Given the description of an element on the screen output the (x, y) to click on. 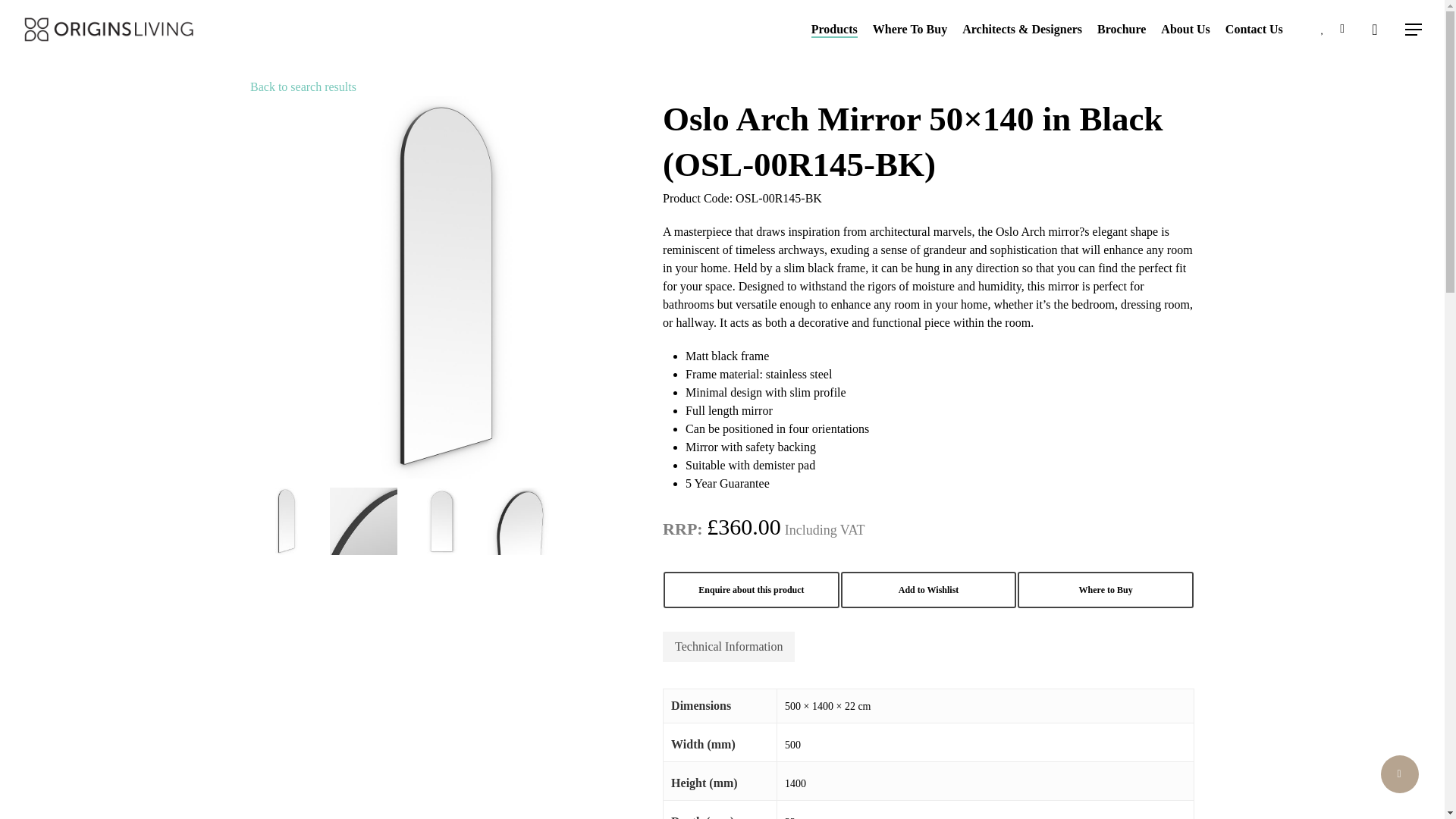
Contact Us (1253, 29)
search (1374, 28)
Where To Buy (909, 29)
Enquire about this product (751, 589)
Menu (1414, 28)
Products (833, 29)
About Us (1184, 29)
Brochure (1121, 29)
Add to Wishlist (928, 589)
